Given the description of an element on the screen output the (x, y) to click on. 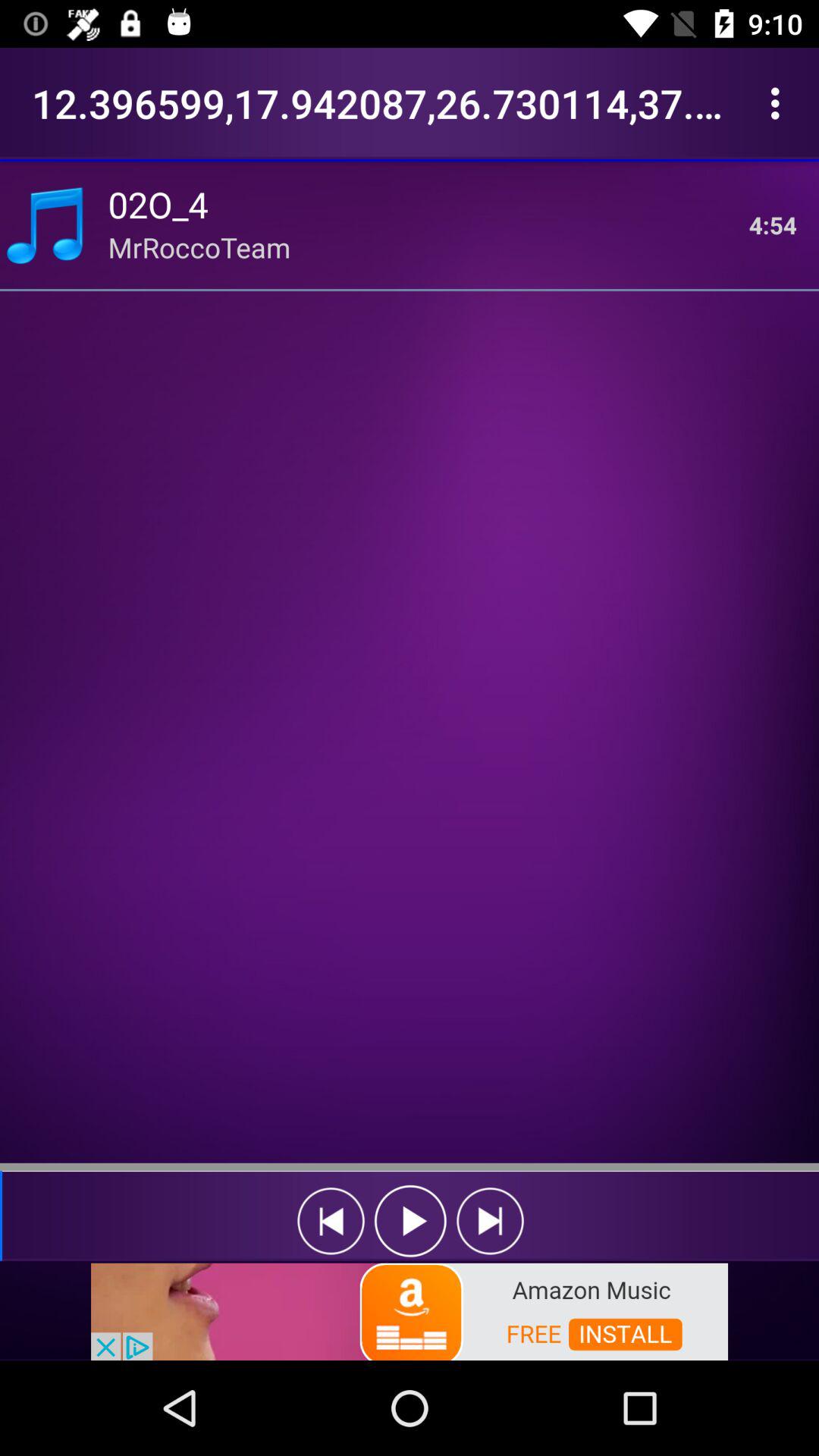
go back (330, 1220)
